Given the description of an element on the screen output the (x, y) to click on. 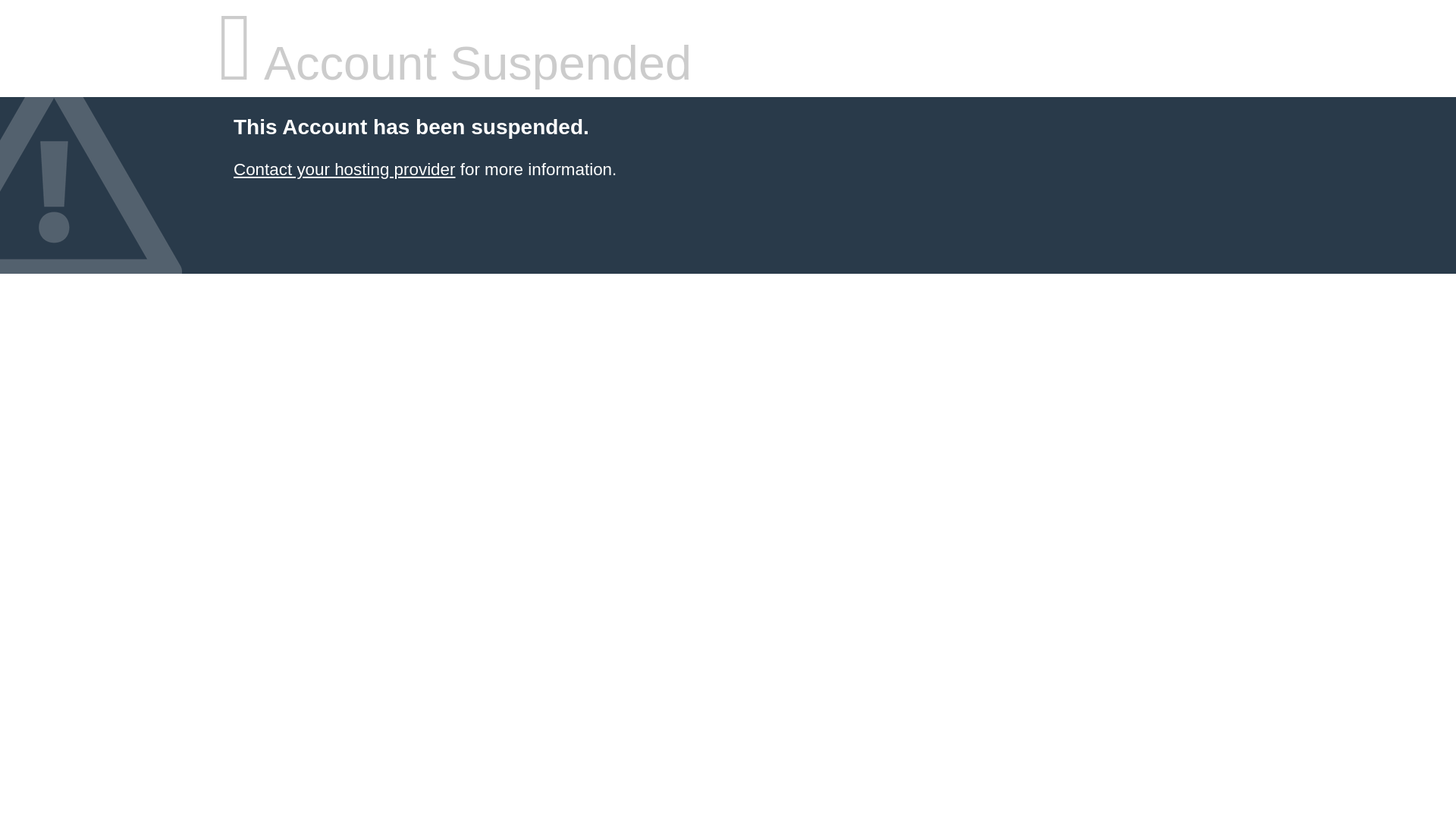
Contact your hosting provider Element type: text (344, 169)
